Given the description of an element on the screen output the (x, y) to click on. 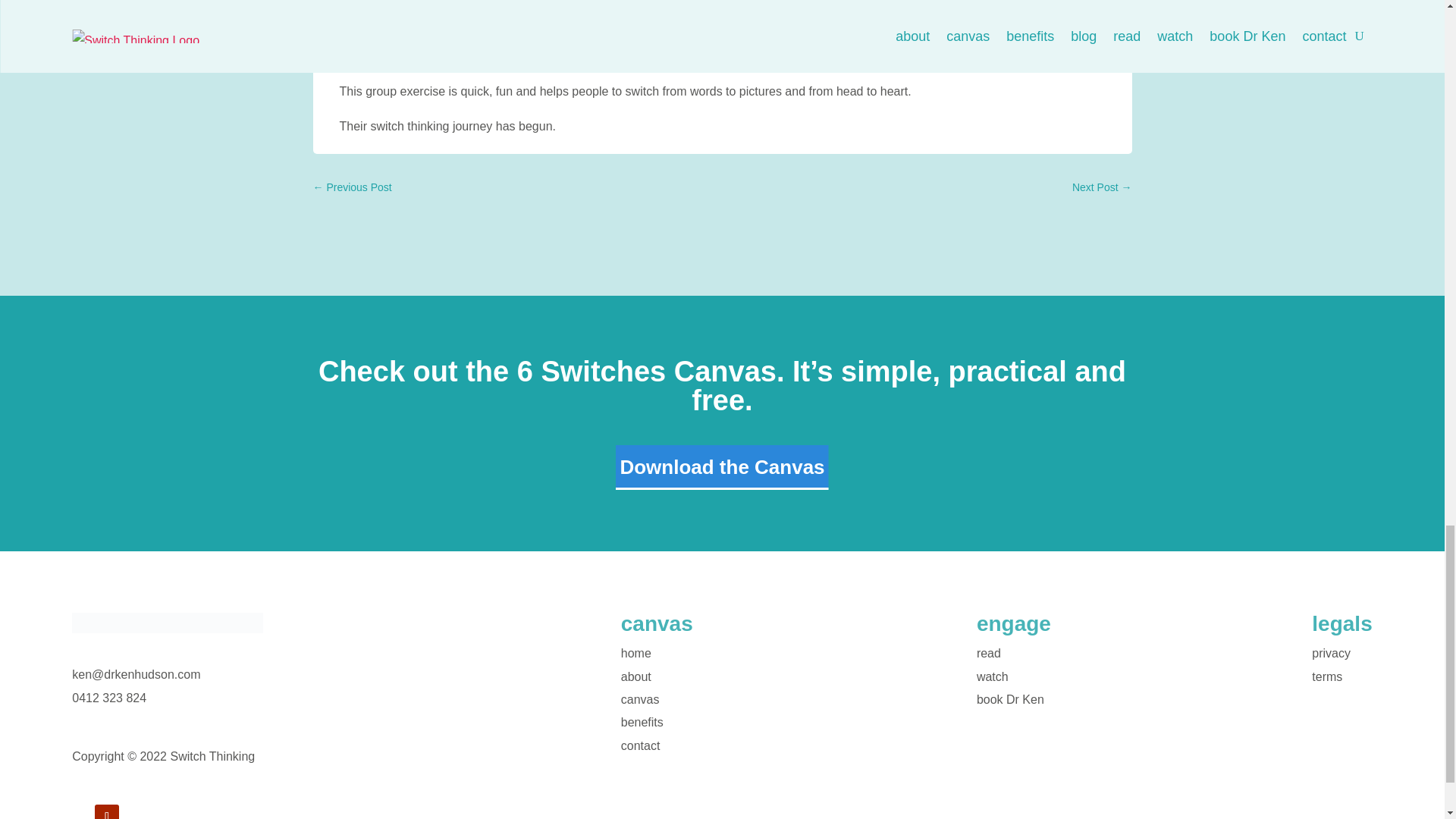
home (635, 653)
about (635, 676)
read (988, 653)
terms (1326, 676)
benefits (642, 721)
book Dr Ken (1009, 698)
contact (641, 745)
watch (992, 676)
Follow on Youtube (106, 811)
canvas (640, 698)
Download the Canvas (721, 467)
Logo (167, 622)
privacy (1331, 653)
0412 323 824 (109, 697)
